Given the description of an element on the screen output the (x, y) to click on. 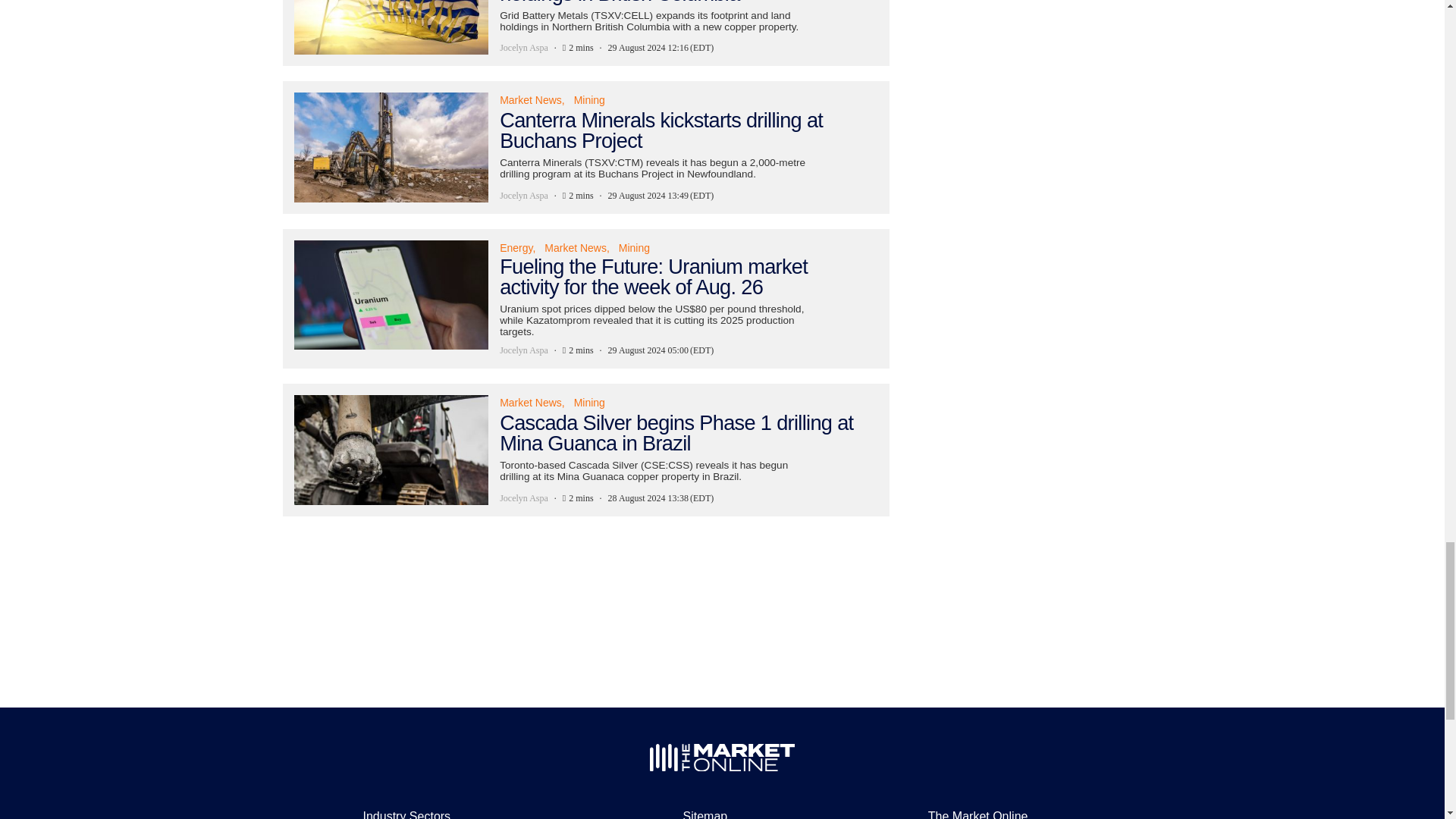
View all posts by Jocelyn Aspa (523, 195)
View all posts by Jocelyn Aspa (523, 47)
View all posts by Jocelyn Aspa (523, 498)
Canterra Minerals kickstarts drilling at Buchans Project (585, 146)
View all posts by Jocelyn Aspa (523, 350)
